Given the description of an element on the screen output the (x, y) to click on. 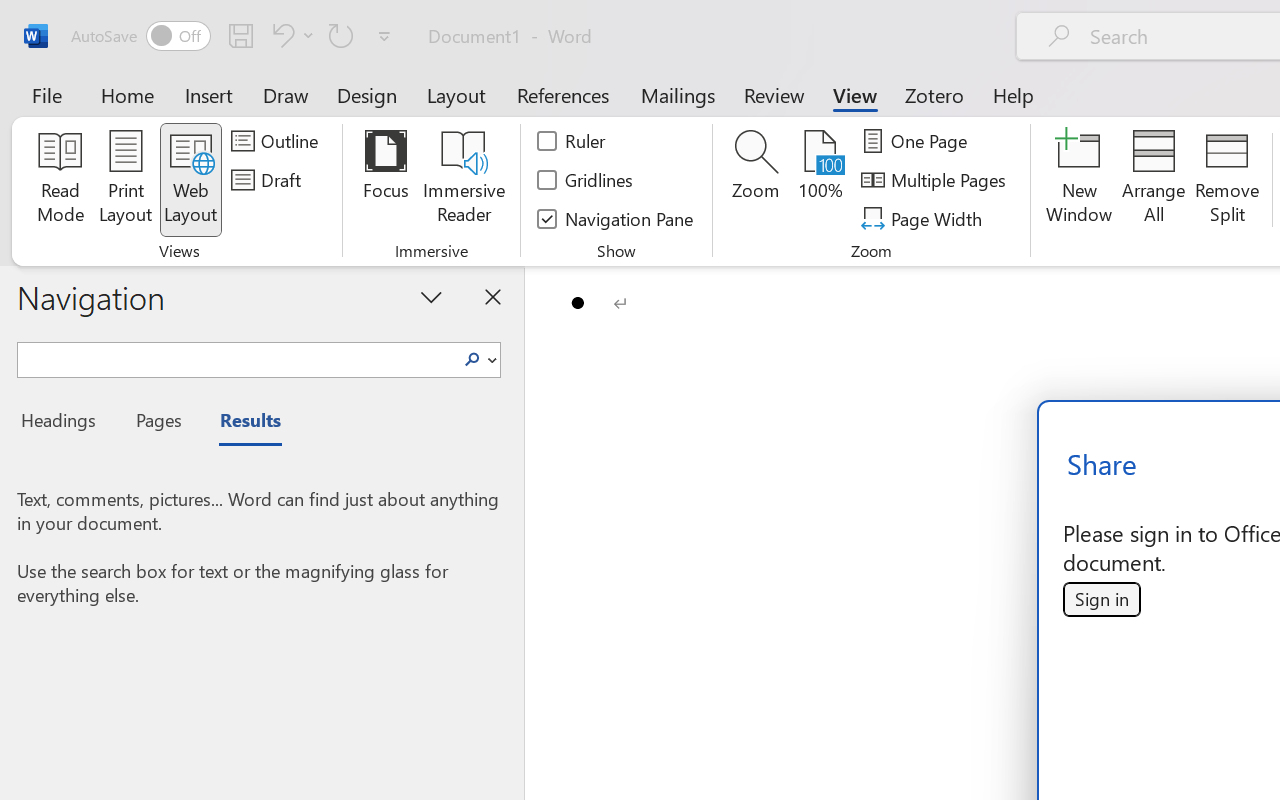
Remove Split (1227, 179)
Can't Repeat (341, 35)
One Page (917, 141)
Focus (385, 179)
Draft (269, 179)
